Given the description of an element on the screen output the (x, y) to click on. 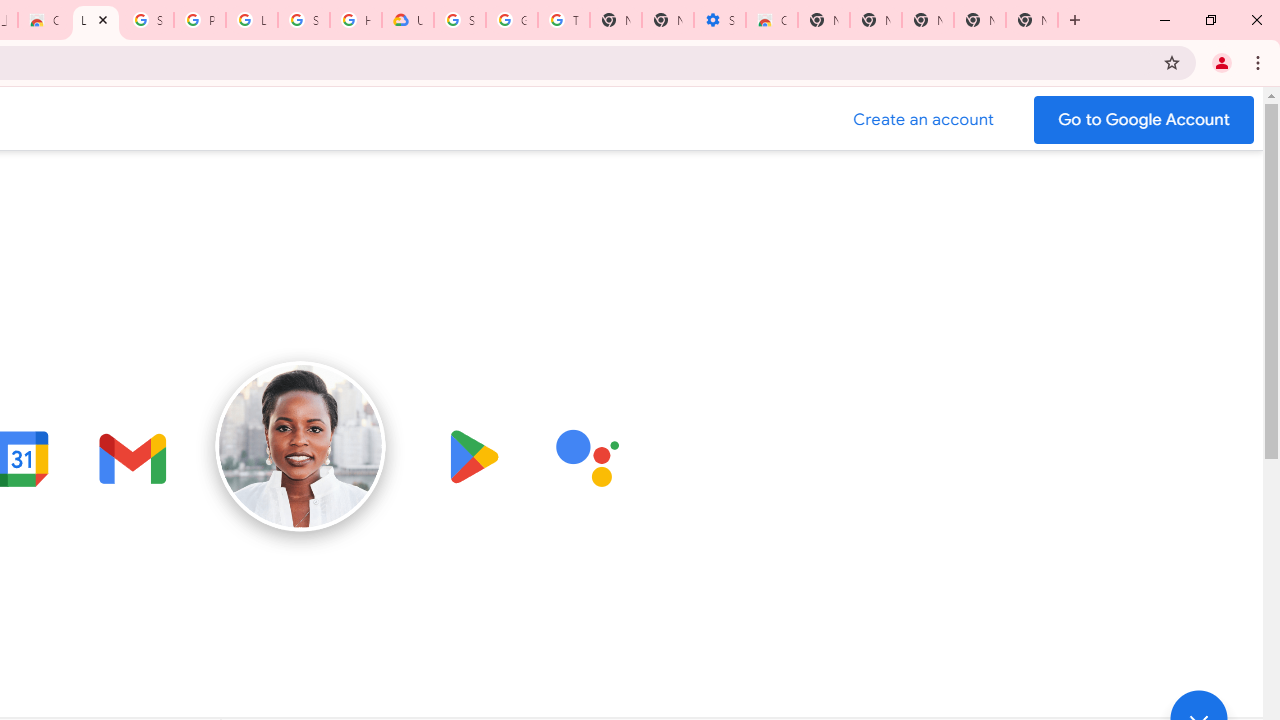
Sign in - Google Accounts (147, 20)
Sign in - Google Accounts (459, 20)
Create a Google Account (923, 119)
New Tab (1032, 20)
Sign in - Google Accounts (303, 20)
Google Account Help (511, 20)
